Given the description of an element on the screen output the (x, y) to click on. 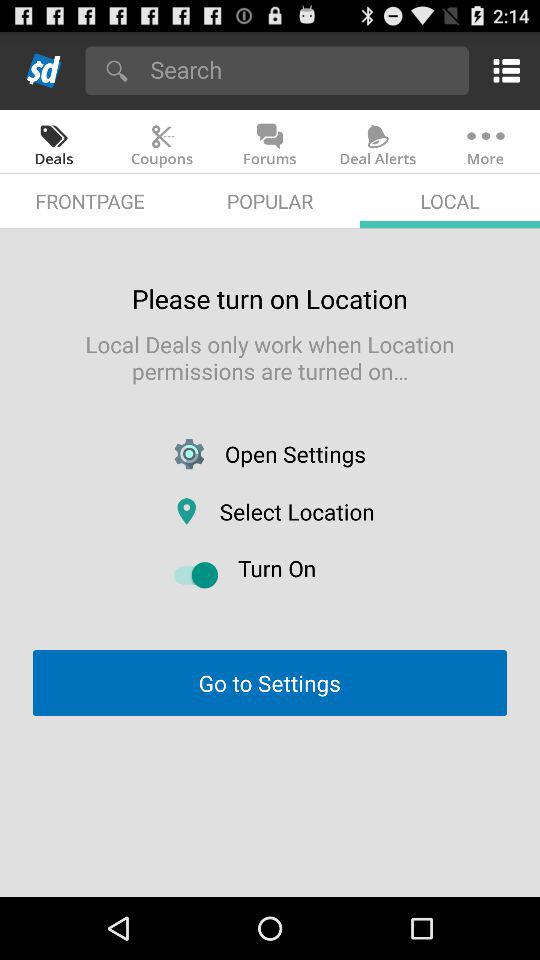
turn on the app at the bottom (269, 682)
